Given the description of an element on the screen output the (x, y) to click on. 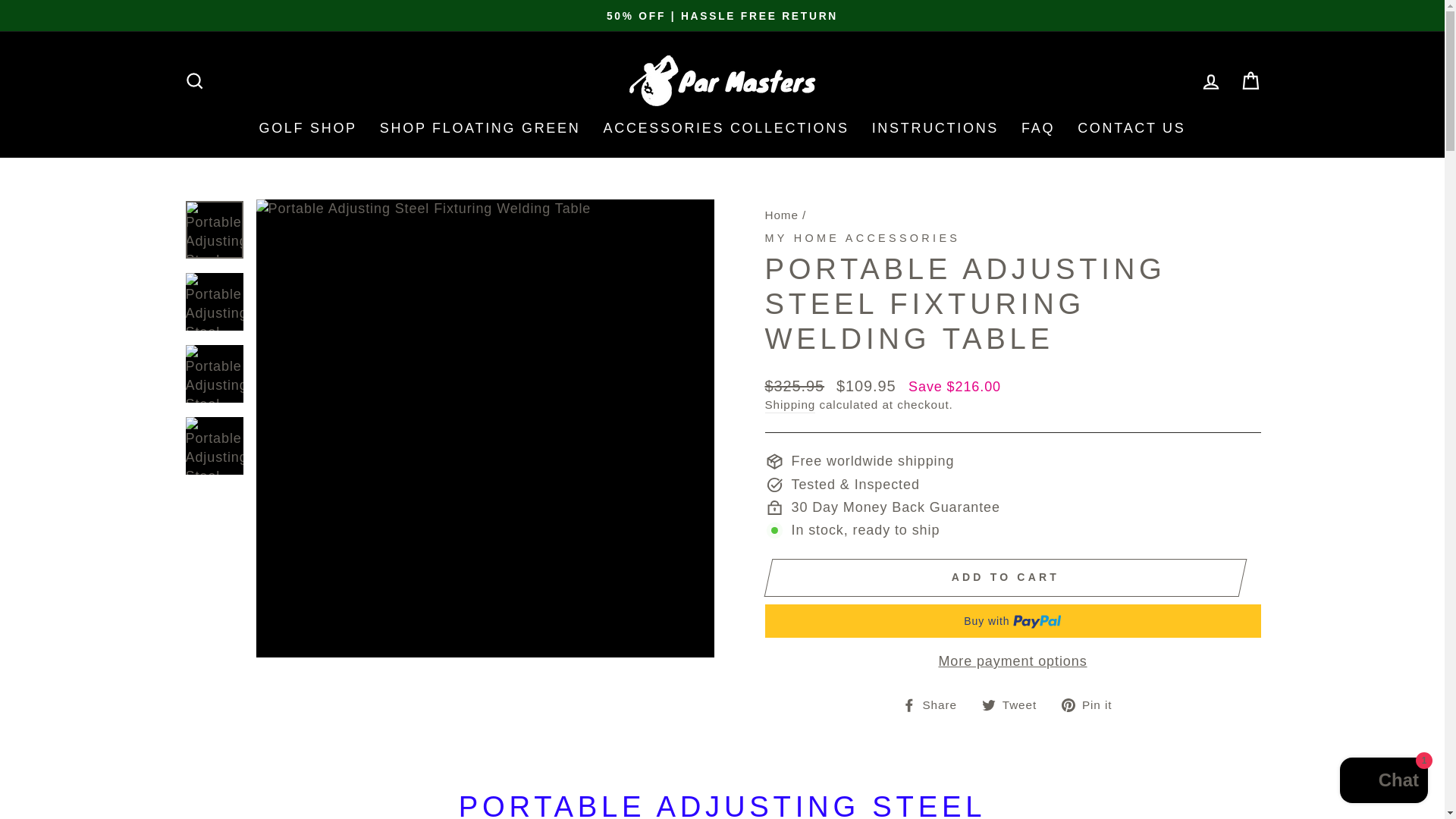
Share on Facebook (935, 703)
Pin on Pinterest (1091, 703)
Tweet on Twitter (1014, 703)
Shopify online store chat (1383, 781)
Back to the frontpage (780, 214)
My Home Accessories (861, 237)
